Given the description of an element on the screen output the (x, y) to click on. 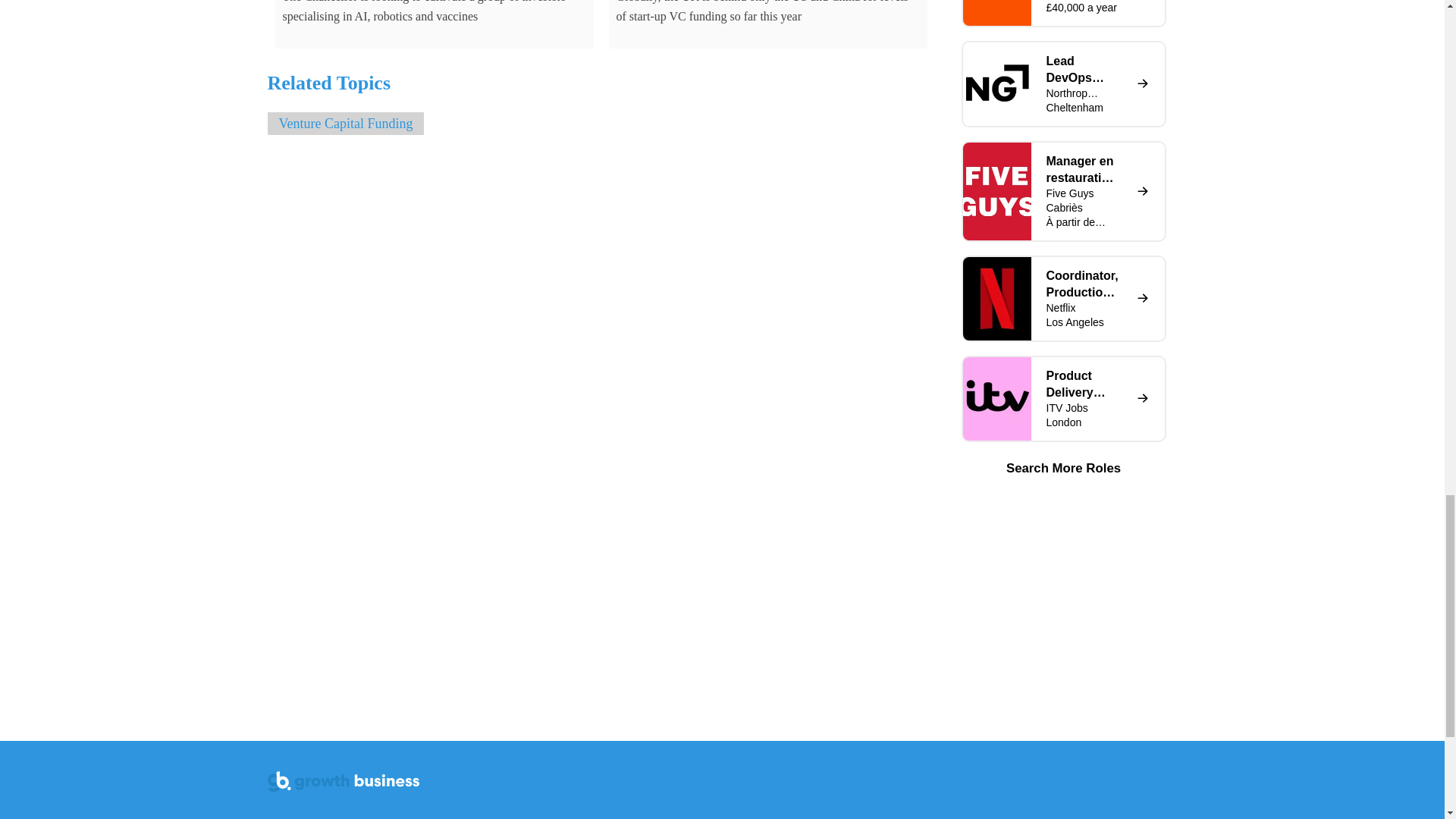
3rd party ad content (1062, 600)
